Given the description of an element on the screen output the (x, y) to click on. 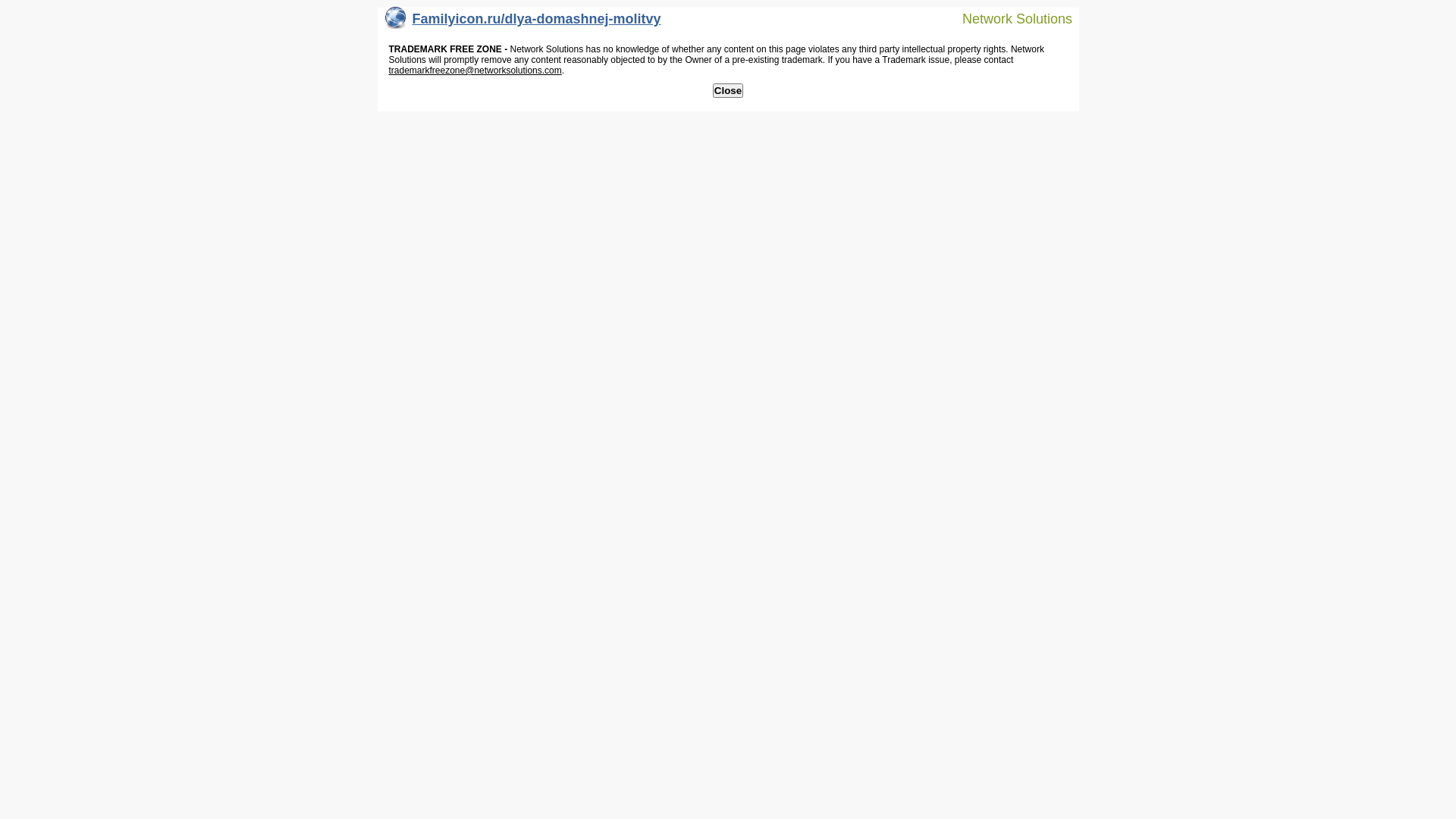
Familyicon.ru/dlya-domashnej-molitvy Element type: text (523, 21)
Close Element type: text (727, 90)
trademarkfreezone@networksolutions.com Element type: text (474, 70)
Network Solutions Element type: text (1007, 17)
